Given the description of an element on the screen output the (x, y) to click on. 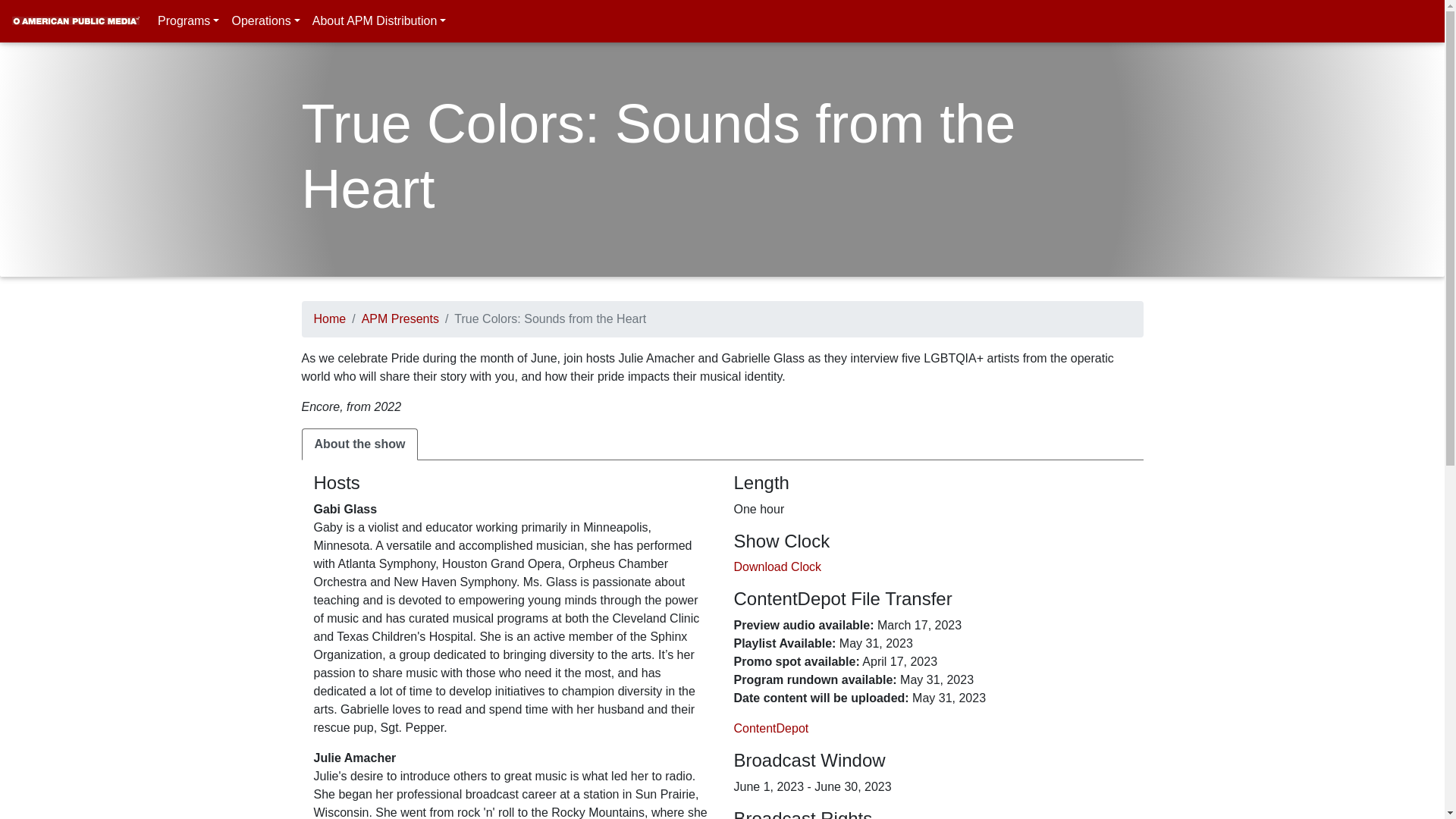
About APM Distribution (378, 20)
ContentDepot (771, 727)
APM Presents (400, 318)
Home (330, 318)
Programs (188, 20)
About the show (360, 444)
Download Clock (777, 566)
Operations (265, 20)
